Given the description of an element on the screen output the (x, y) to click on. 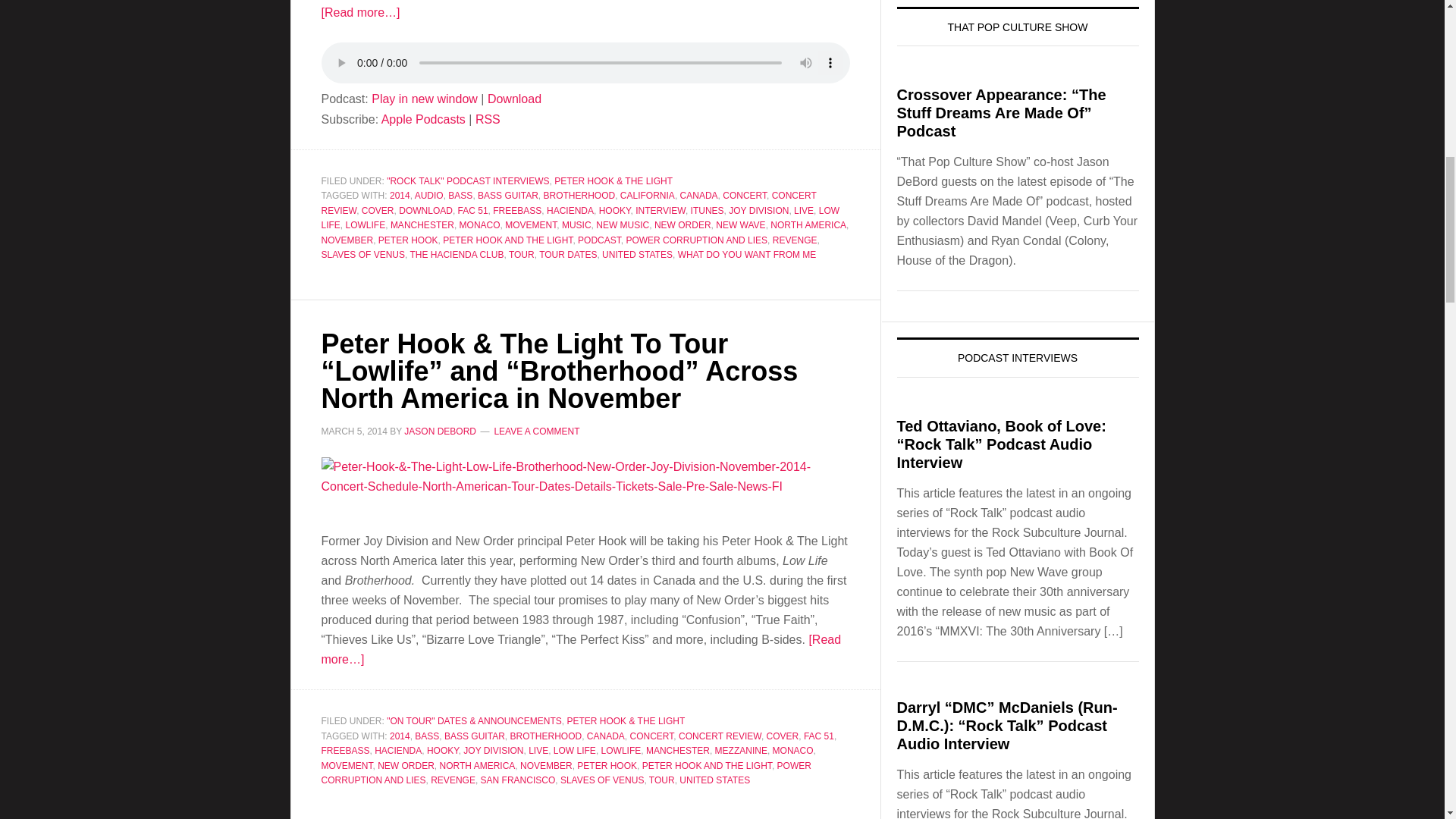
Subscribe via RSS (488, 118)
Play in new window (424, 98)
2014 (400, 195)
Download (514, 98)
Download (514, 98)
Play in new window (424, 98)
Subscribe on Apple Podcasts (423, 118)
AUDIO (429, 195)
Apple Podcasts (423, 118)
RSS (488, 118)
